Given the description of an element on the screen output the (x, y) to click on. 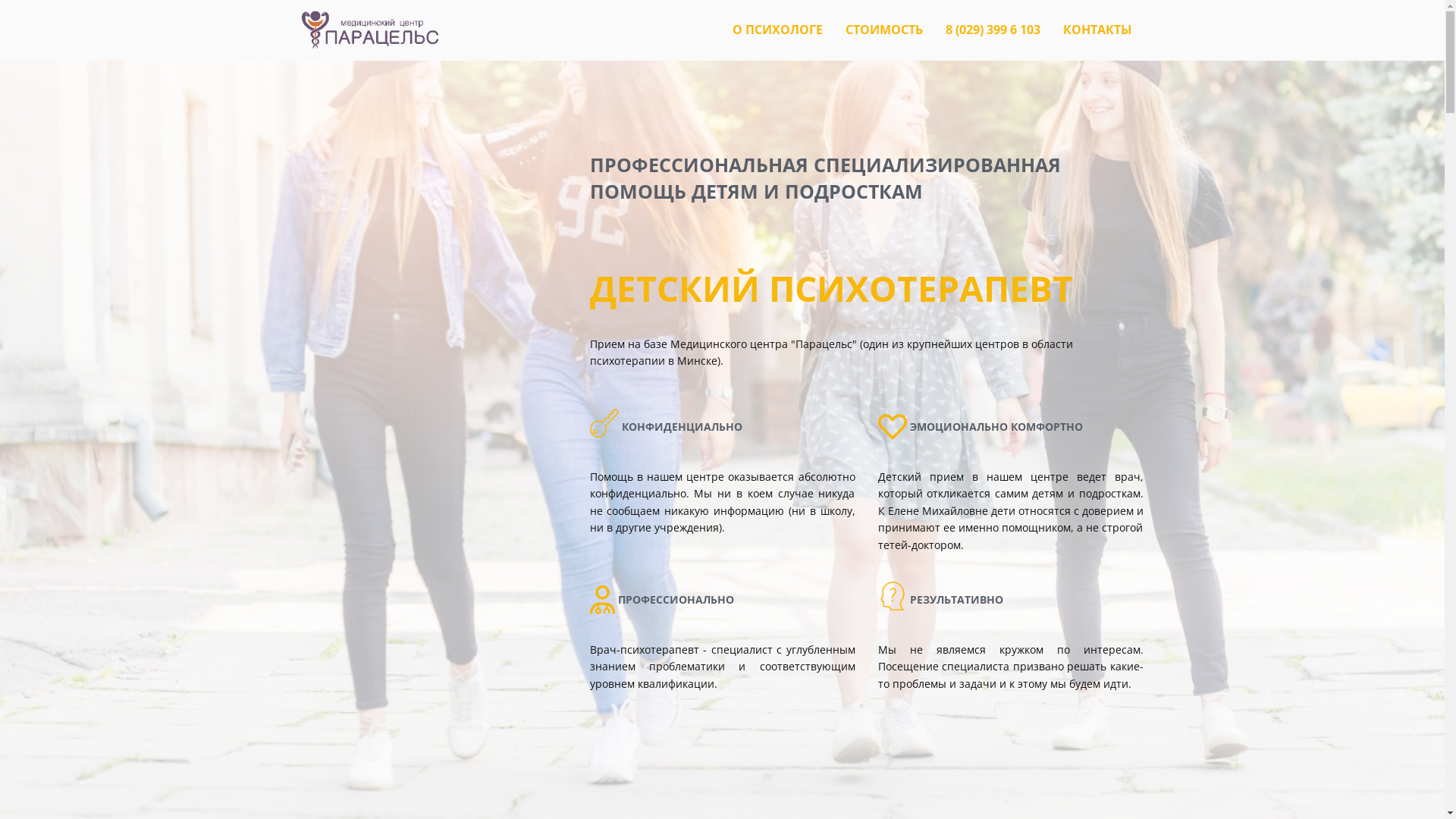
8 (029) 399 6 103 Element type: text (991, 30)
